Given the description of an element on the screen output the (x, y) to click on. 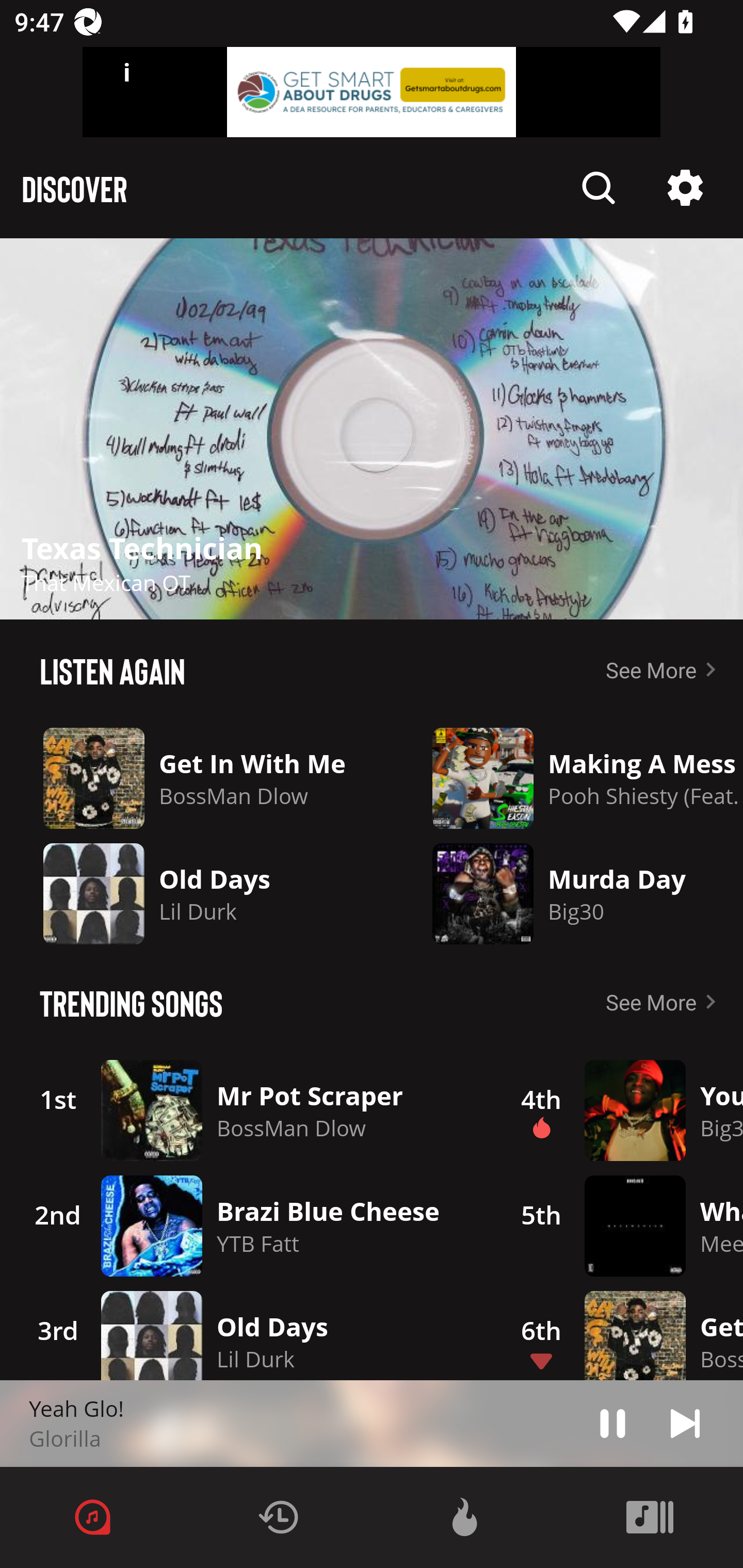
Description (598, 188)
Description (684, 188)
Description (371, 428)
See More (664, 669)
Description Get In With Me BossMan Dlow (201, 778)
Description Old Days Lil Durk (201, 893)
Description Murda Day Big30 (573, 893)
See More (664, 1001)
1st Description Mr Pot Scraper BossMan Dlow (248, 1110)
4th Description Description You Thought Big30 (620, 1110)
2nd Description Brazi Blue Cheese YTB Fatt (248, 1226)
3rd Description Old Days Lil Durk (248, 1331)
Yeah Glo! Glorilla Description Description (371, 1423)
Description (612, 1422)
Description (685, 1422)
